Given the description of an element on the screen output the (x, y) to click on. 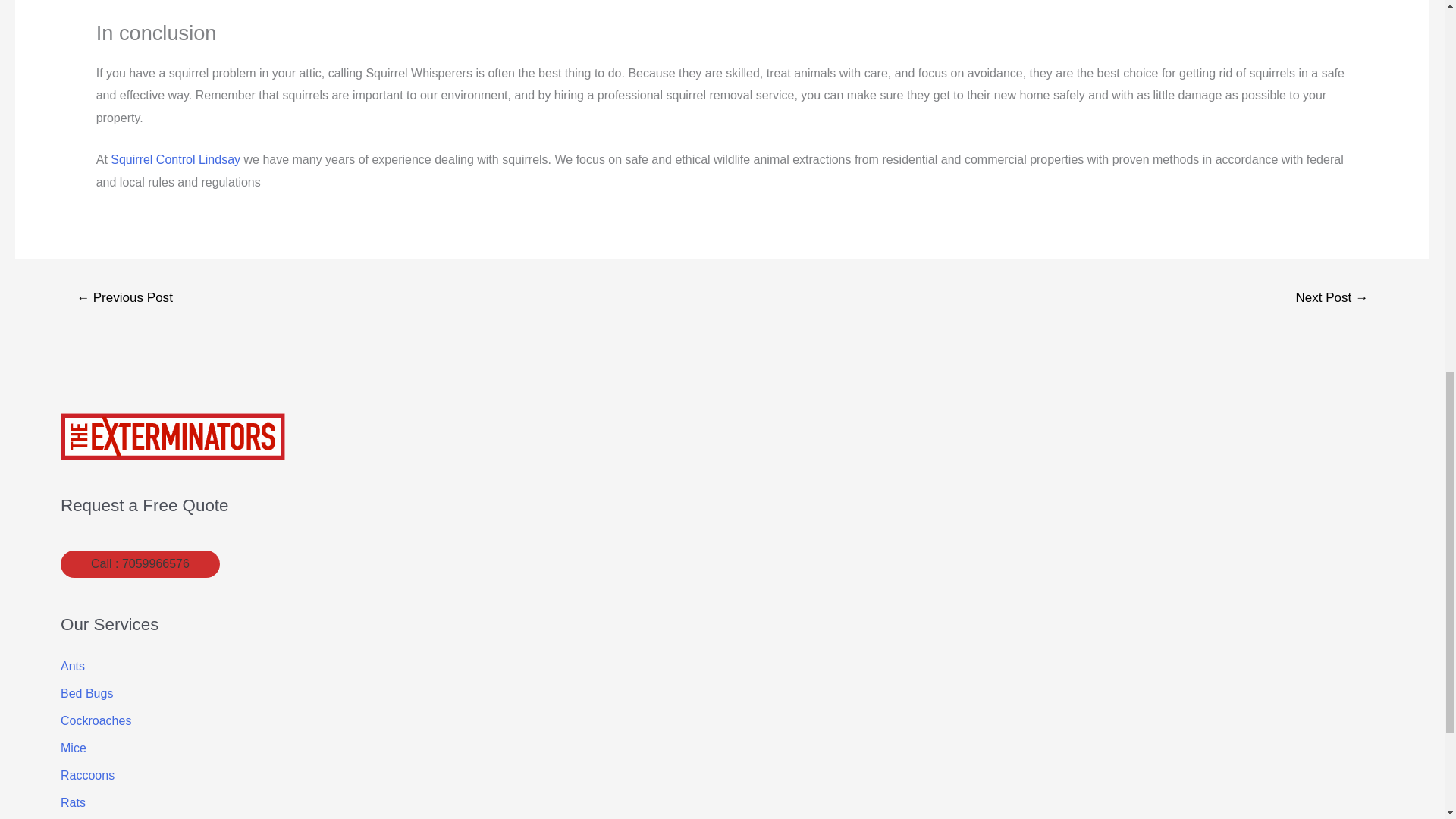
Rats (73, 802)
Mice (73, 748)
Squirrel Control Lindsay (173, 159)
Ants (72, 666)
Raccoons (88, 775)
Cockroaches (96, 720)
Call : 7059966576 (140, 564)
Bed Bugs (87, 693)
